Given the description of an element on the screen output the (x, y) to click on. 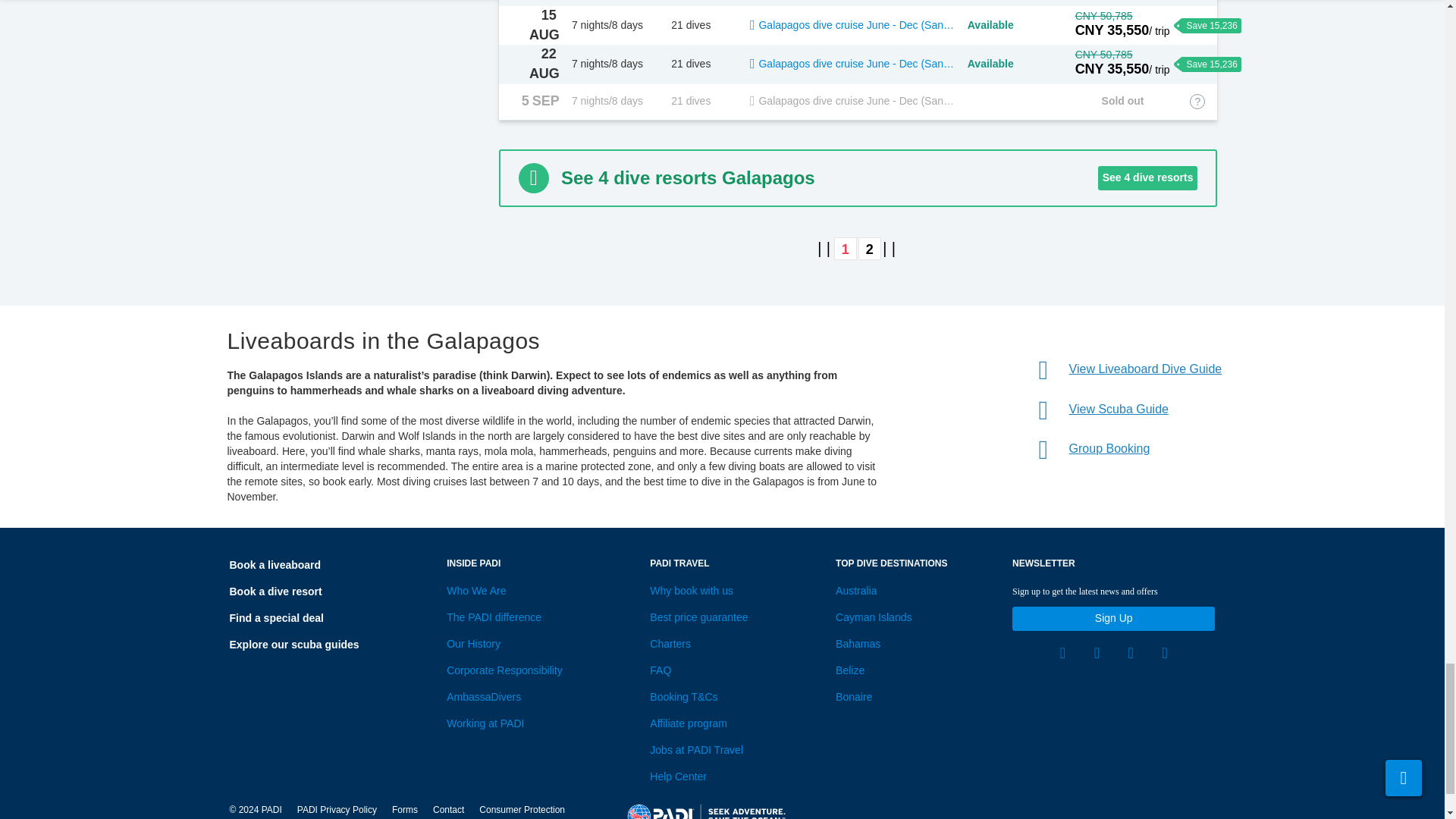
Book a liveaboard (274, 564)
Explore our scuba guides (293, 644)
Find a special deal (275, 617)
Book a dive resort (274, 591)
